Given the description of an element on the screen output the (x, y) to click on. 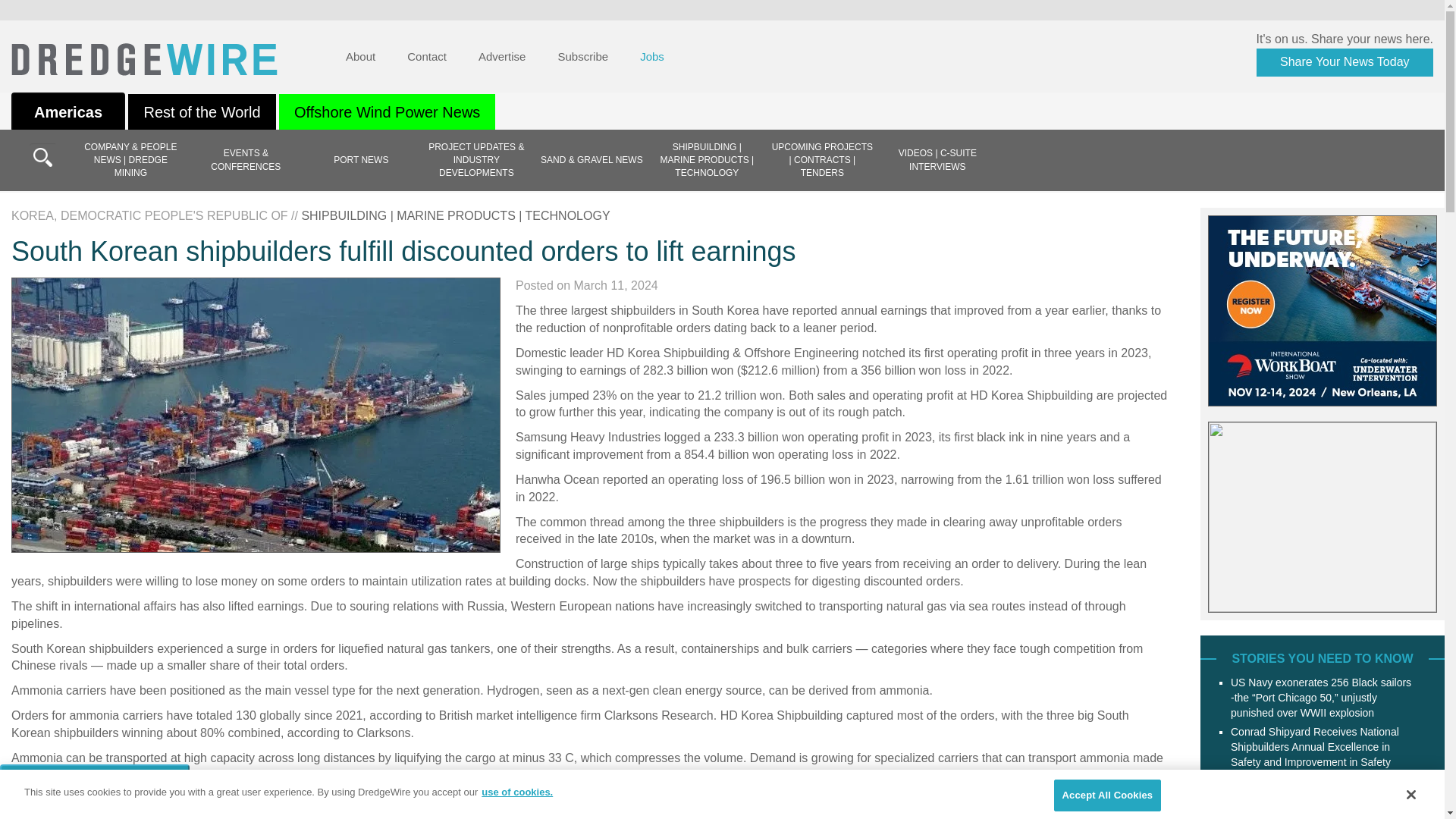
Share Your News Today (1344, 62)
About (360, 56)
Americas (68, 112)
Jobs (651, 56)
Contact (426, 56)
Advertise (502, 56)
Subscribe (582, 56)
